Given the description of an element on the screen output the (x, y) to click on. 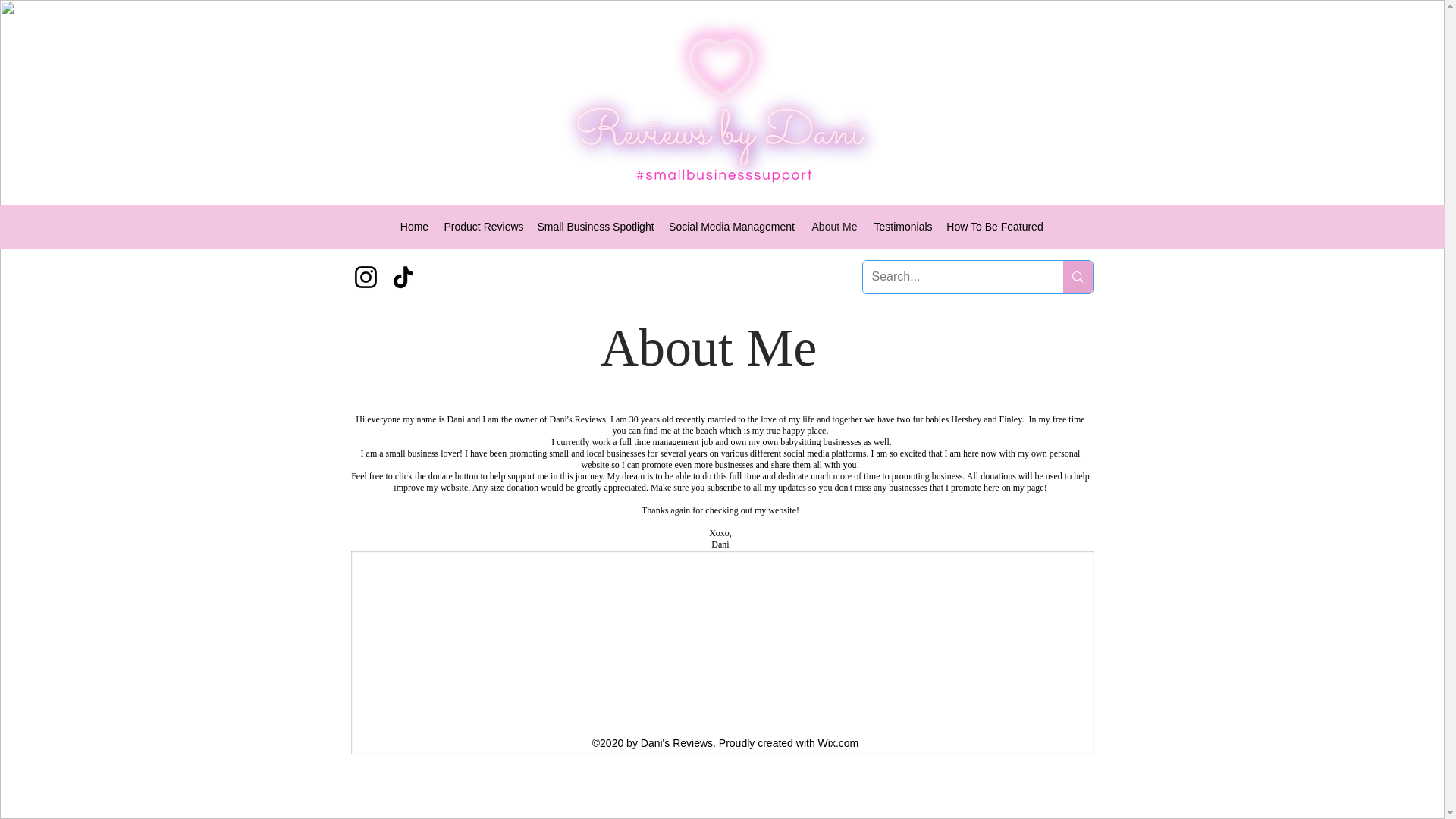
Testimonials (901, 226)
Small Business Spotlight (595, 226)
Social Media Management (732, 226)
Home (414, 226)
Original on Transparent.png (721, 102)
About Me (834, 226)
Product Reviews (482, 226)
How To Be Featured (995, 226)
